Given the description of an element on the screen output the (x, y) to click on. 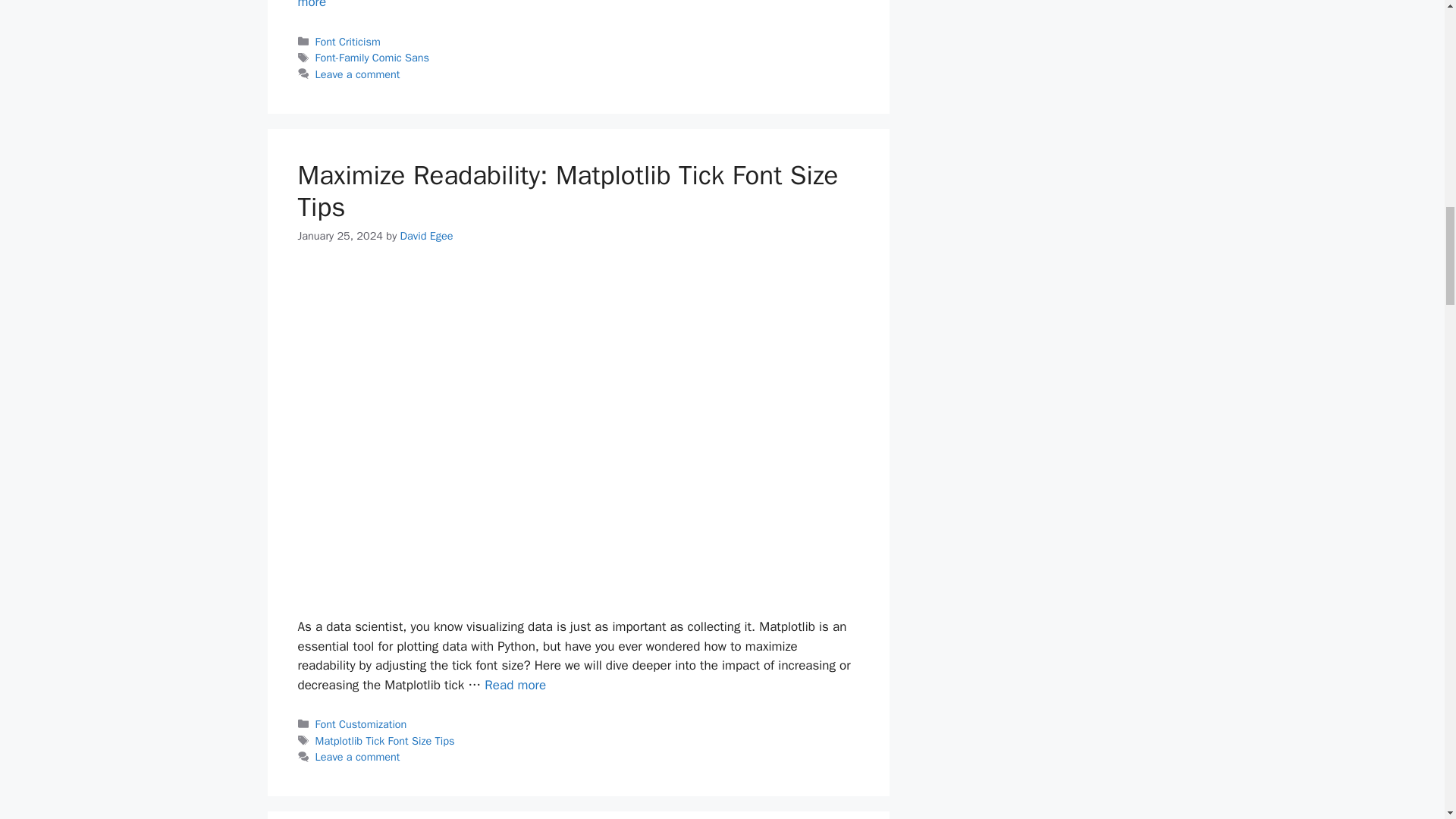
View all posts by David Egee (426, 235)
Read more (575, 5)
Matplotlib Tick Font Size Tips (384, 740)
Font-Family Comic Sans (372, 57)
Maximize Readability: Matplotlib Tick Font Size Tips (515, 684)
Read more (515, 684)
David Egee (426, 235)
Font-Family Comic Sans: A Controversial Typeface (575, 5)
Leave a comment (357, 74)
Leave a comment (357, 756)
